Given the description of an element on the screen output the (x, y) to click on. 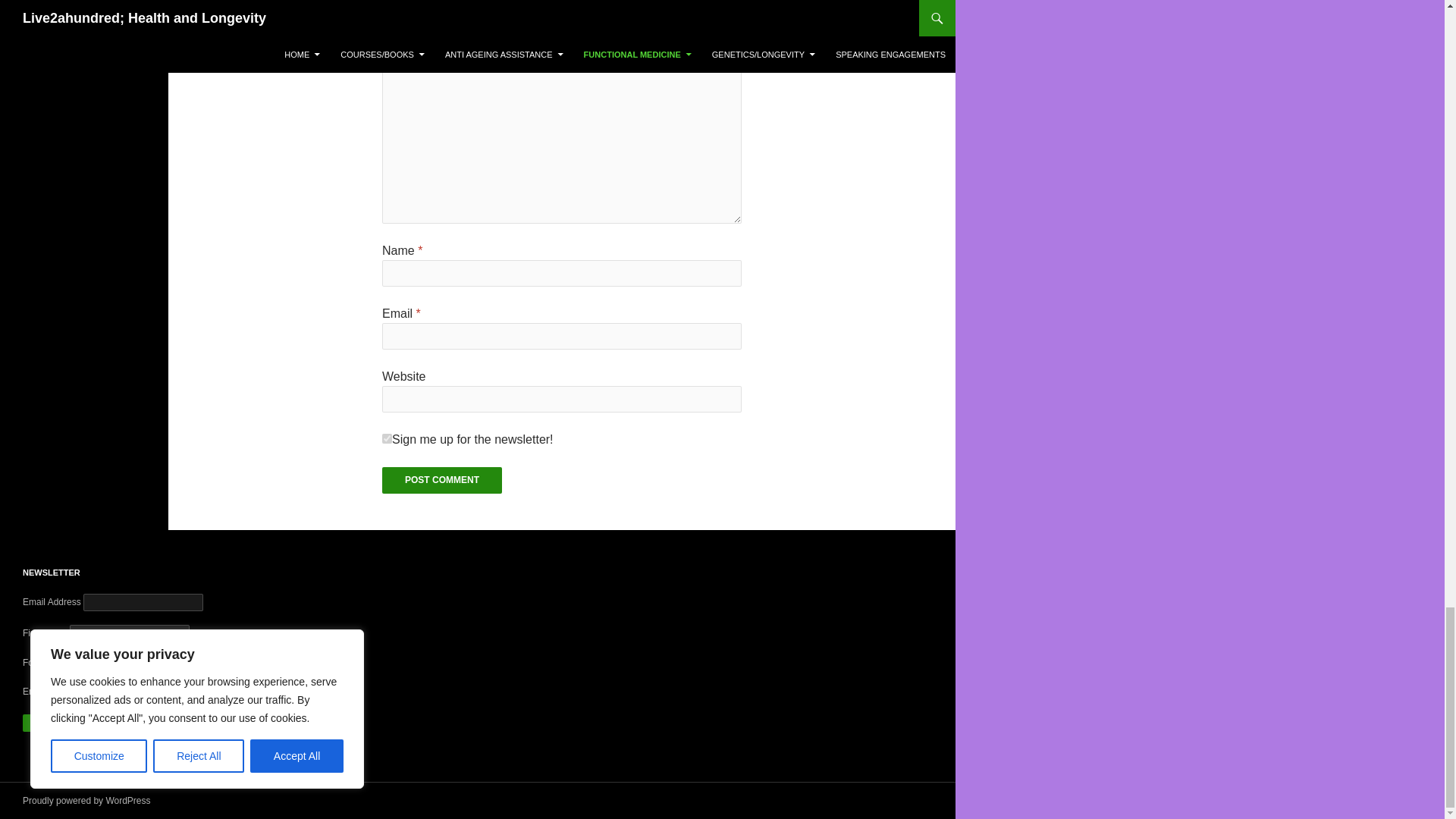
1 (386, 438)
Sign up (52, 723)
subscribe (78, 660)
unsubscribe (133, 660)
Post Comment (441, 479)
